Given the description of an element on the screen output the (x, y) to click on. 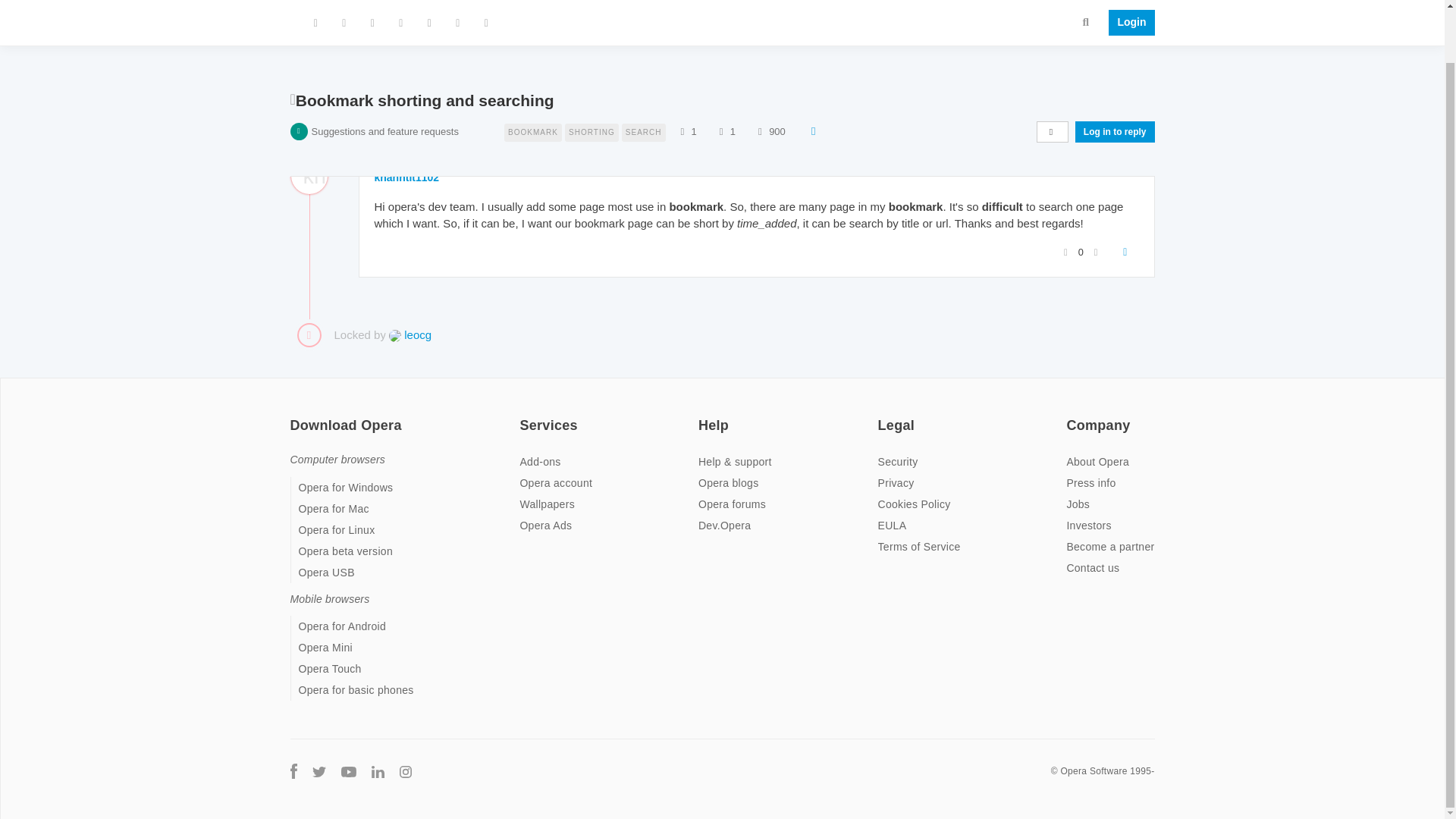
BOOKMARK (533, 96)
on (702, 415)
on (1070, 415)
on (881, 415)
khanhtit1102 (406, 177)
SHORTING (592, 96)
Log in to reply (1114, 97)
Views (759, 97)
Suggestions and feature requests (384, 97)
Posts (720, 97)
on (293, 415)
Posters (682, 97)
on (523, 415)
SEARCH (643, 96)
